Given the description of an element on the screen output the (x, y) to click on. 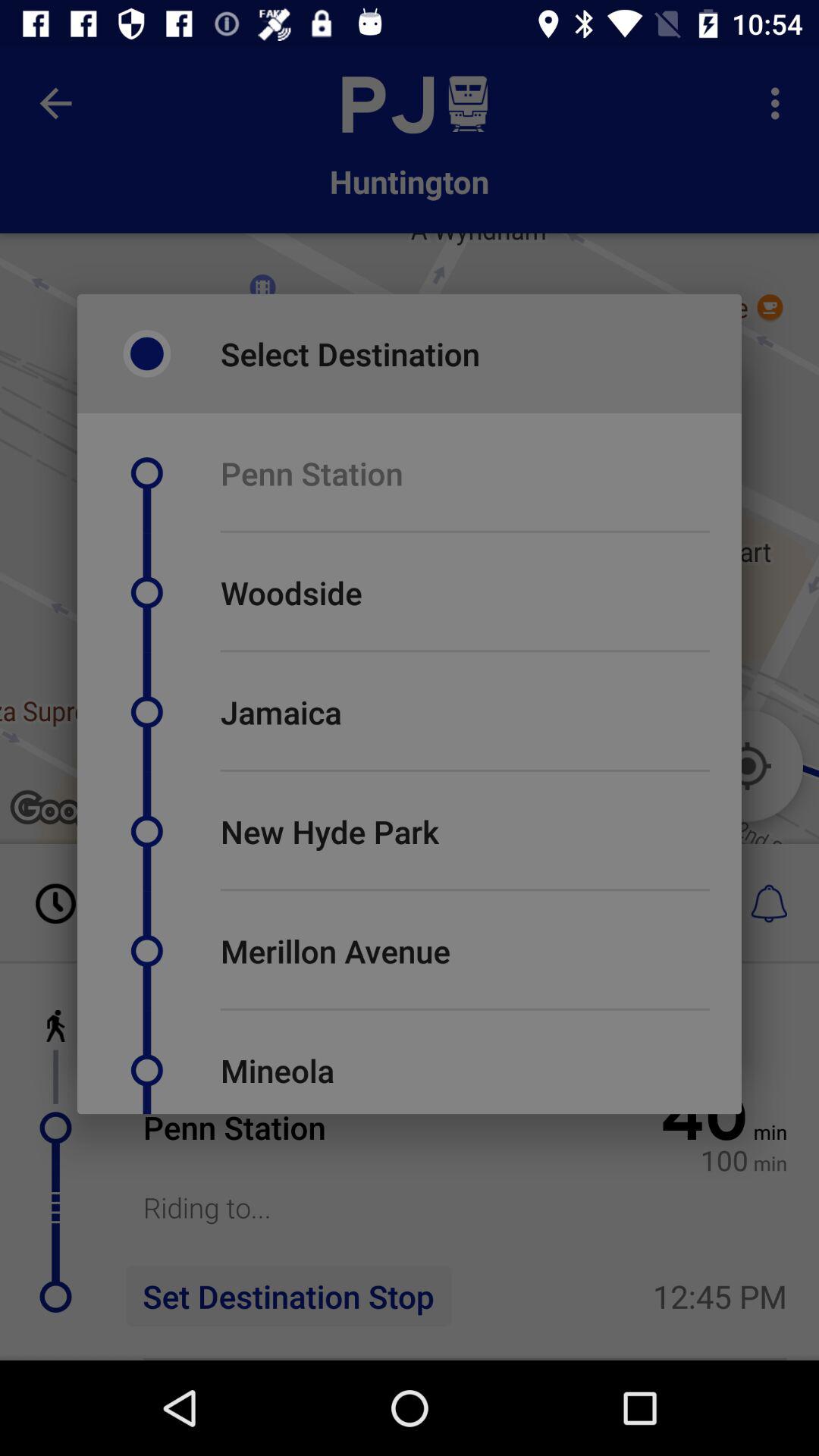
press penn station item (311, 472)
